Given the description of an element on the screen output the (x, y) to click on. 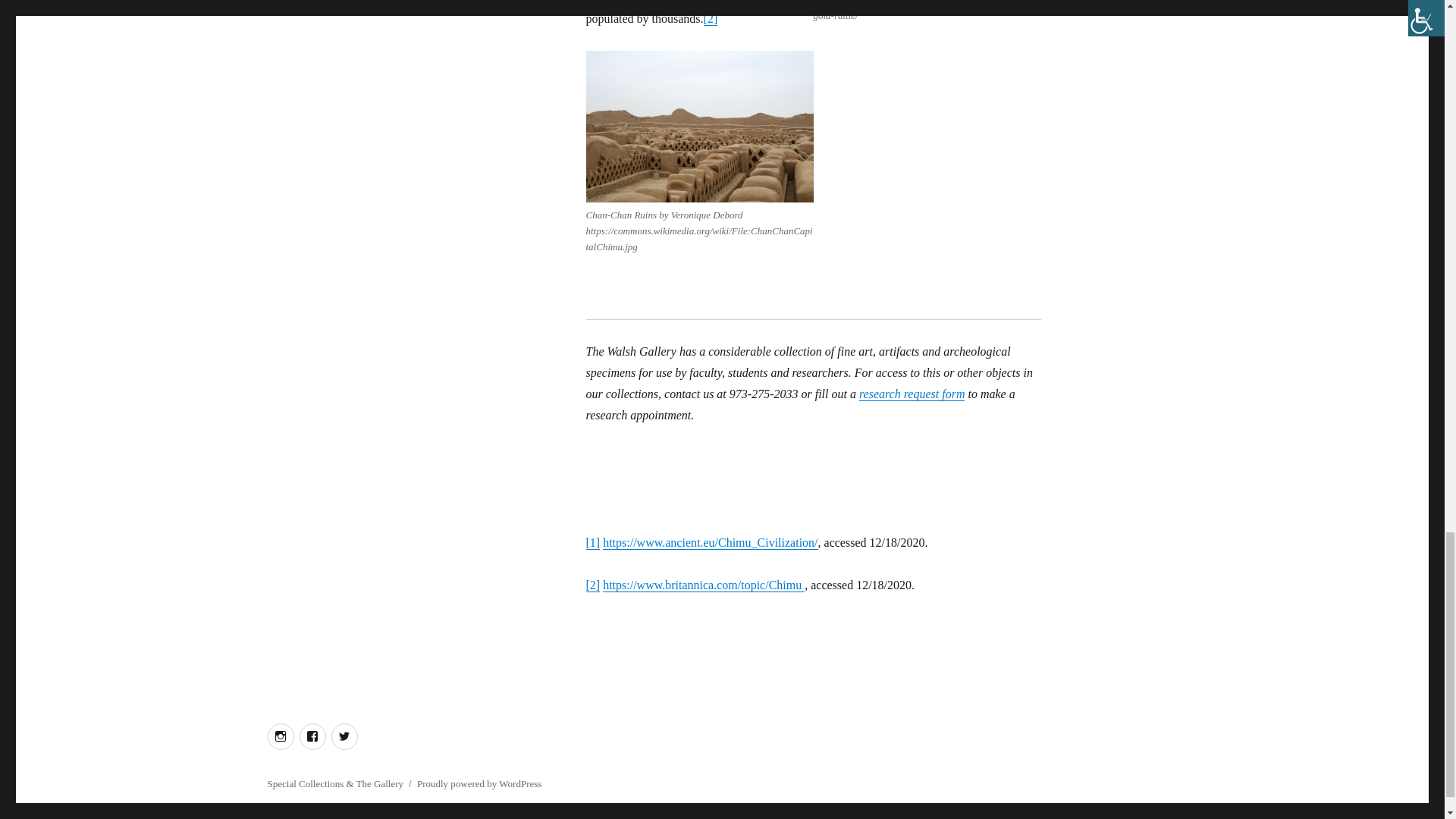
research request form (912, 393)
